Given the description of an element on the screen output the (x, y) to click on. 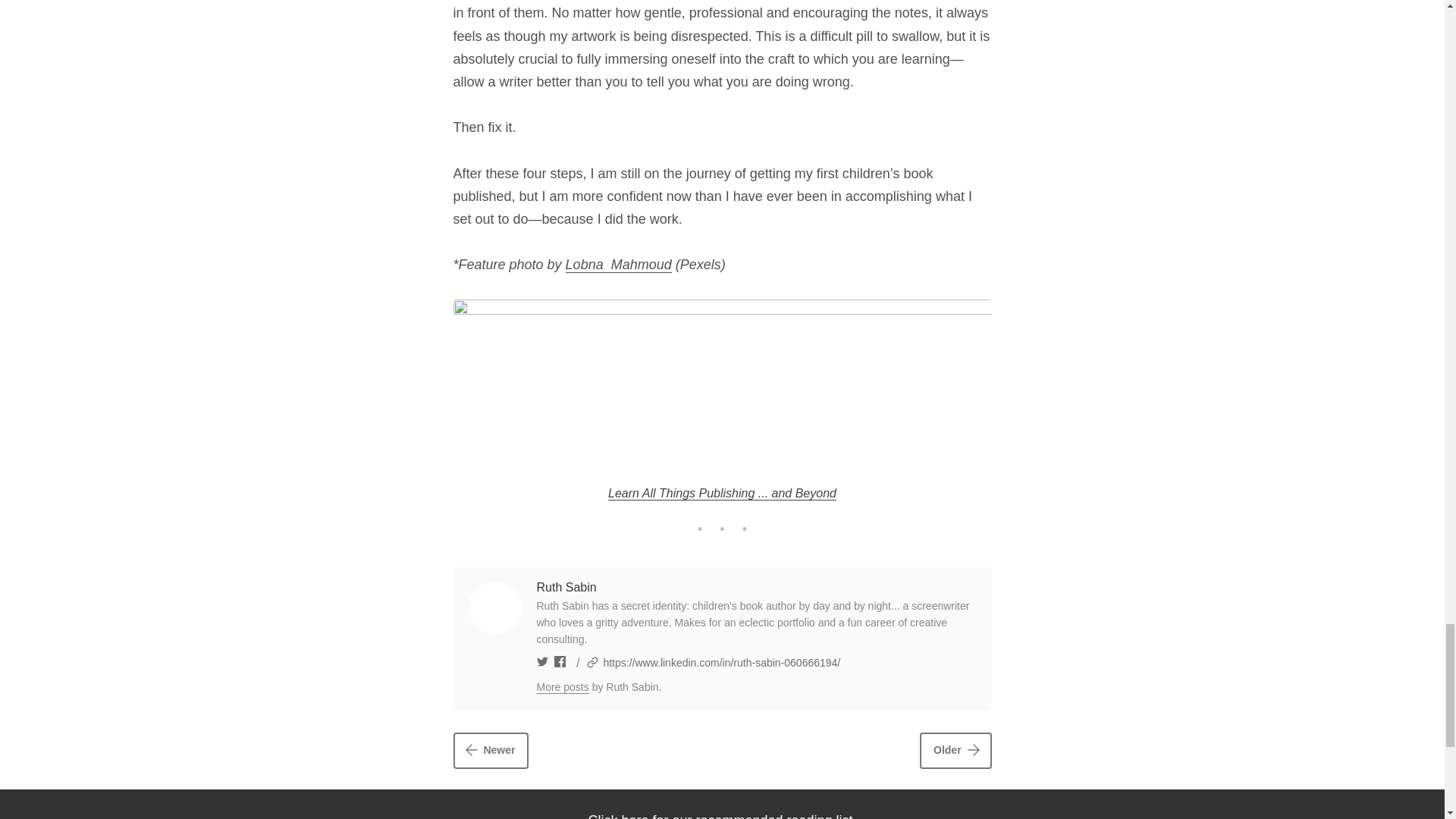
Facebook icon (560, 661)
Facebook icon (560, 662)
Older (955, 750)
Twitter icon (542, 661)
More posts (563, 686)
Learn All Things Publishing ... and Beyond (721, 493)
Ruth Sabin (566, 586)
Twitter icon (544, 662)
Lobna  Mahmoud (618, 264)
Newer (490, 750)
